Given the description of an element on the screen output the (x, y) to click on. 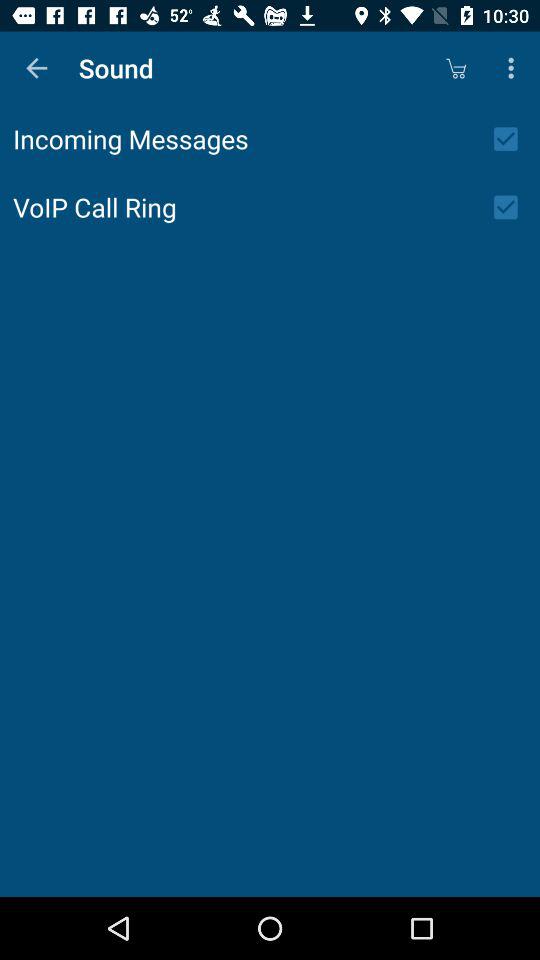
sound on off for voip call ring (512, 207)
